Given the description of an element on the screen output the (x, y) to click on. 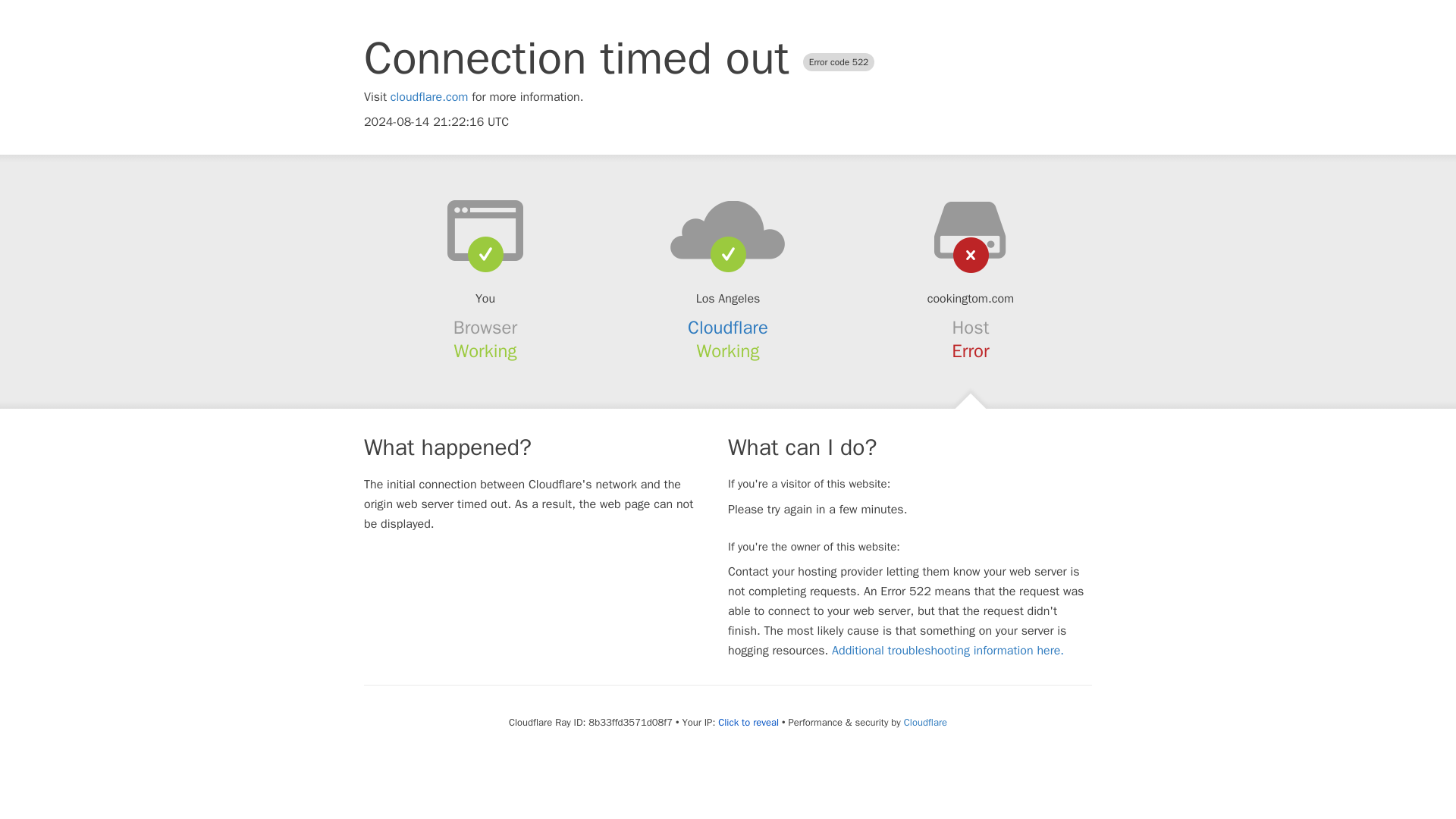
Additional troubleshooting information here. (947, 650)
Cloudflare (925, 721)
cloudflare.com (429, 96)
Cloudflare (727, 327)
Click to reveal (747, 722)
